Given the description of an element on the screen output the (x, y) to click on. 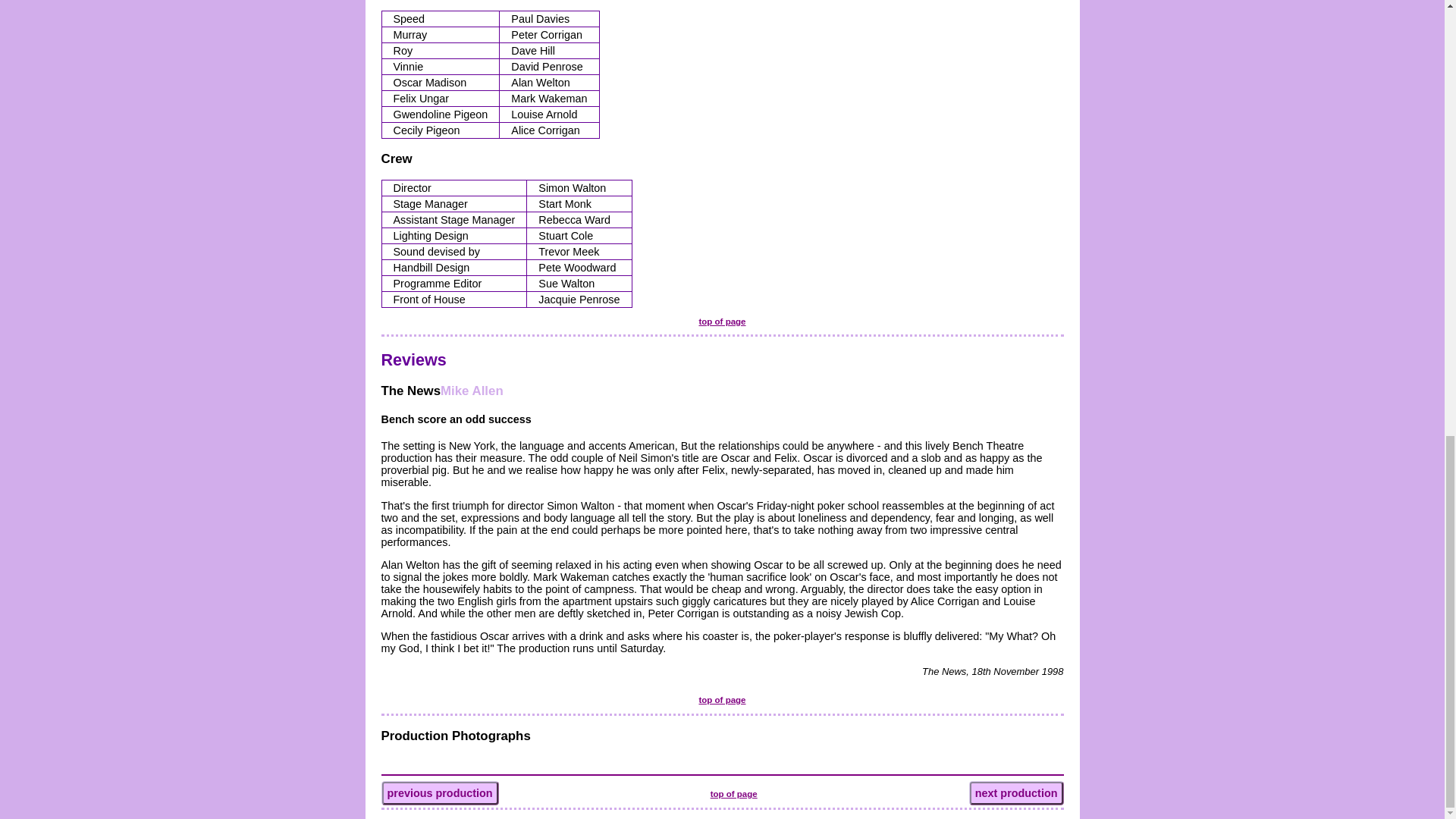
previous production (438, 793)
top of page (721, 320)
top of page (733, 793)
Reviews (412, 359)
next production (1016, 793)
top of page (721, 699)
